Given the description of an element on the screen output the (x, y) to click on. 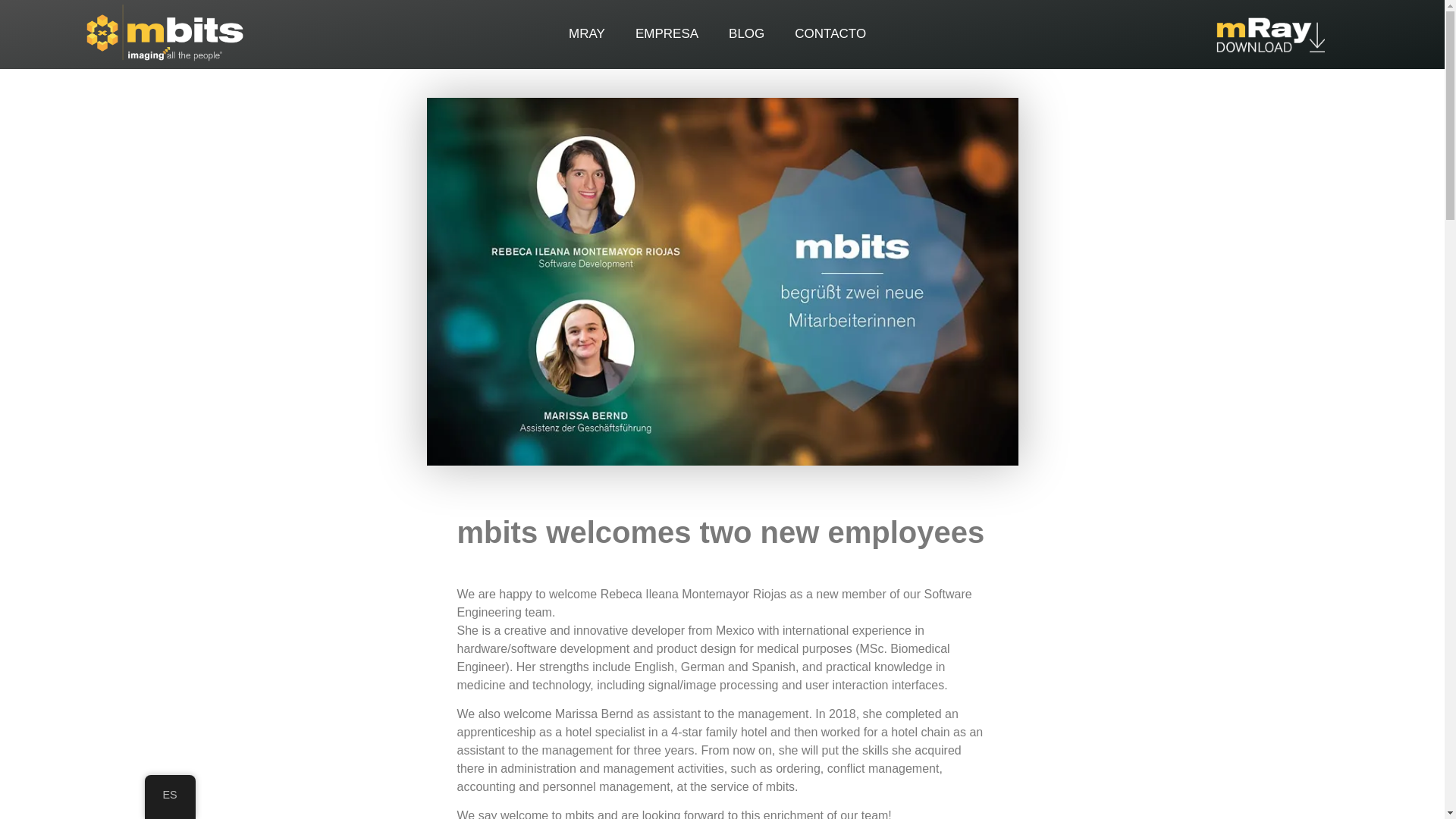
MRAY (586, 33)
EMPRESA (666, 33)
CONTACTO (829, 33)
BLOG (745, 33)
